Given the description of an element on the screen output the (x, y) to click on. 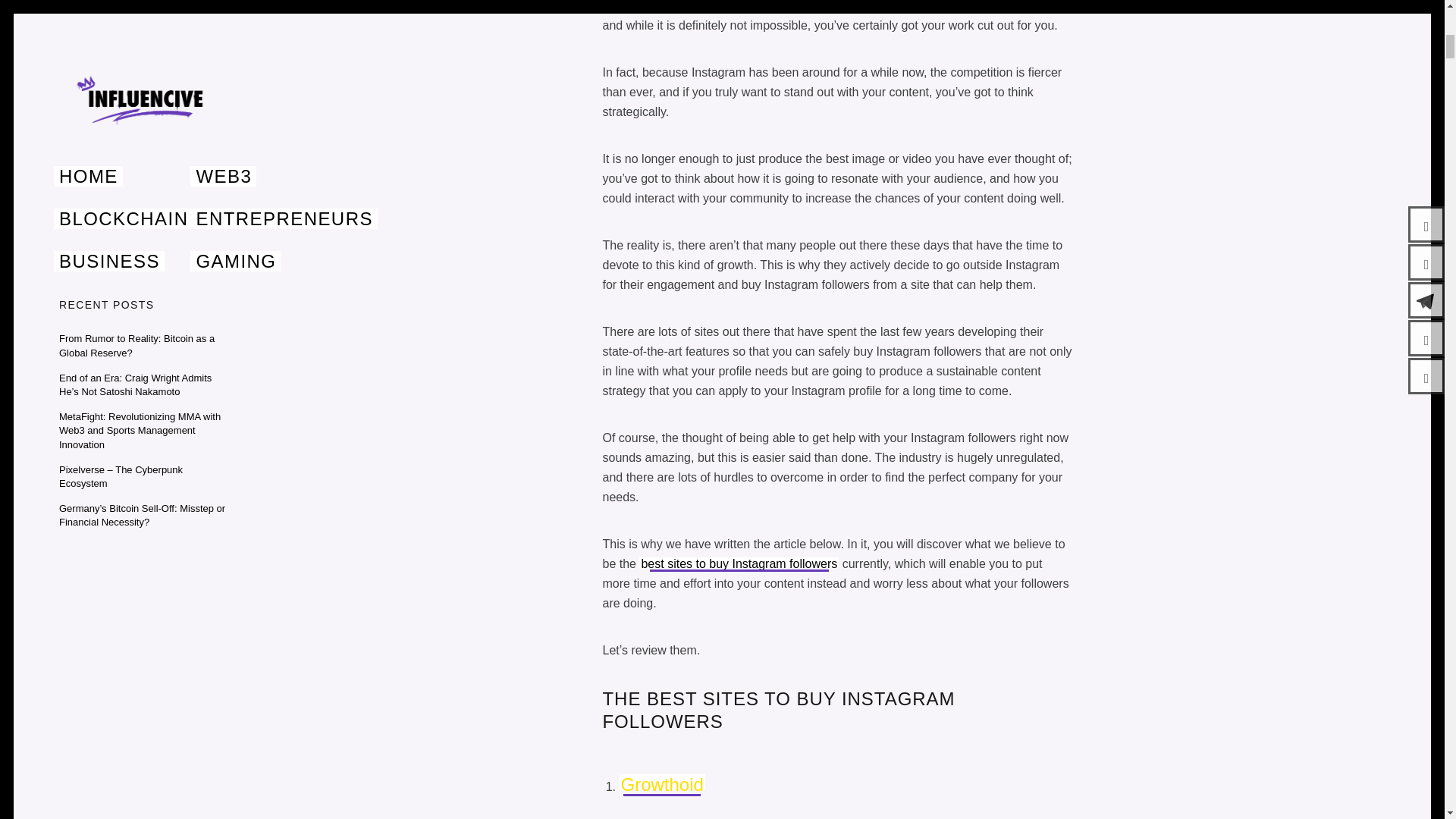
best sites to buy Instagram followers (738, 563)
Growthoid (661, 783)
